Given the description of an element on the screen output the (x, y) to click on. 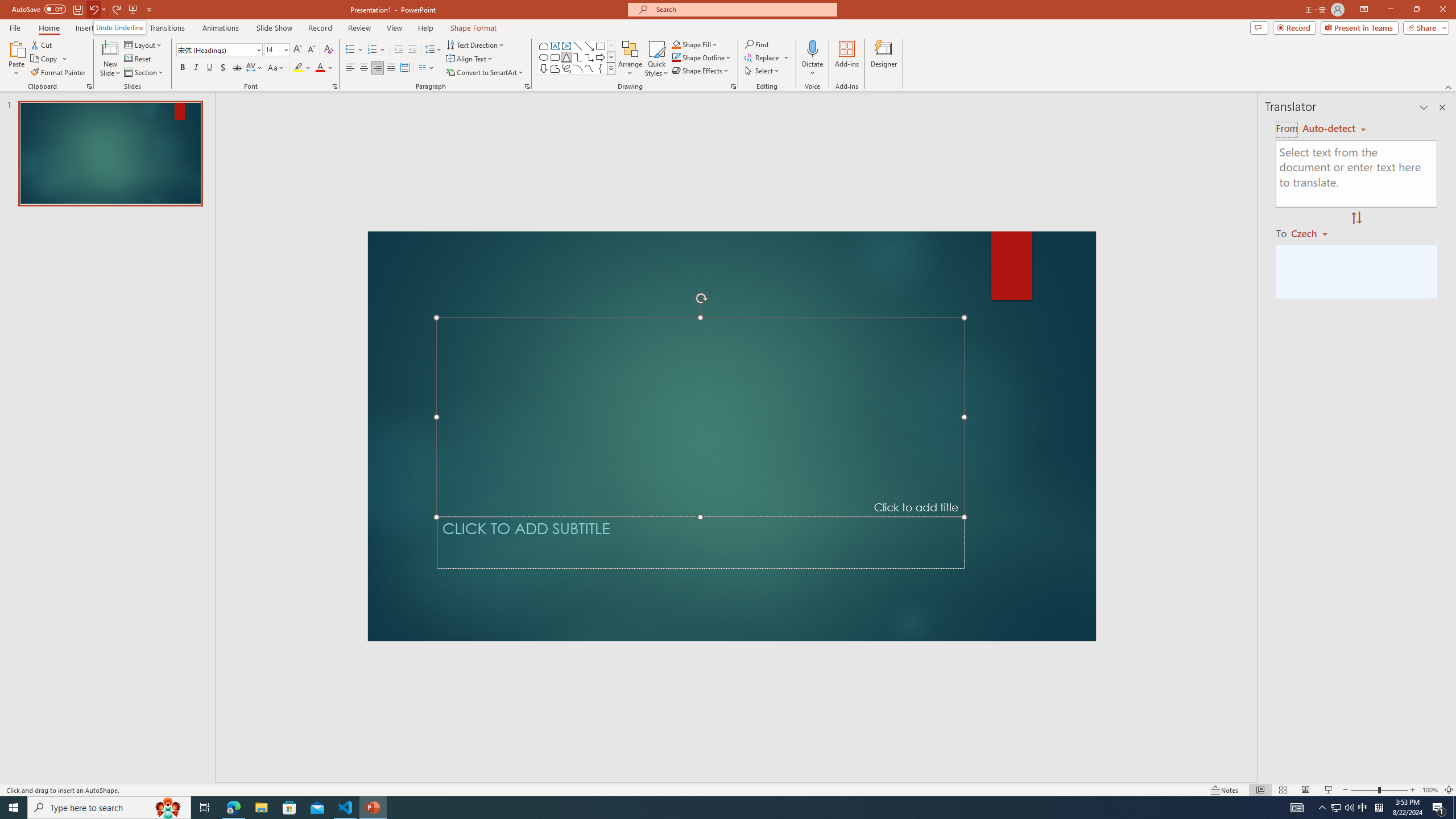
Undo Underline (119, 27)
